Given the description of an element on the screen output the (x, y) to click on. 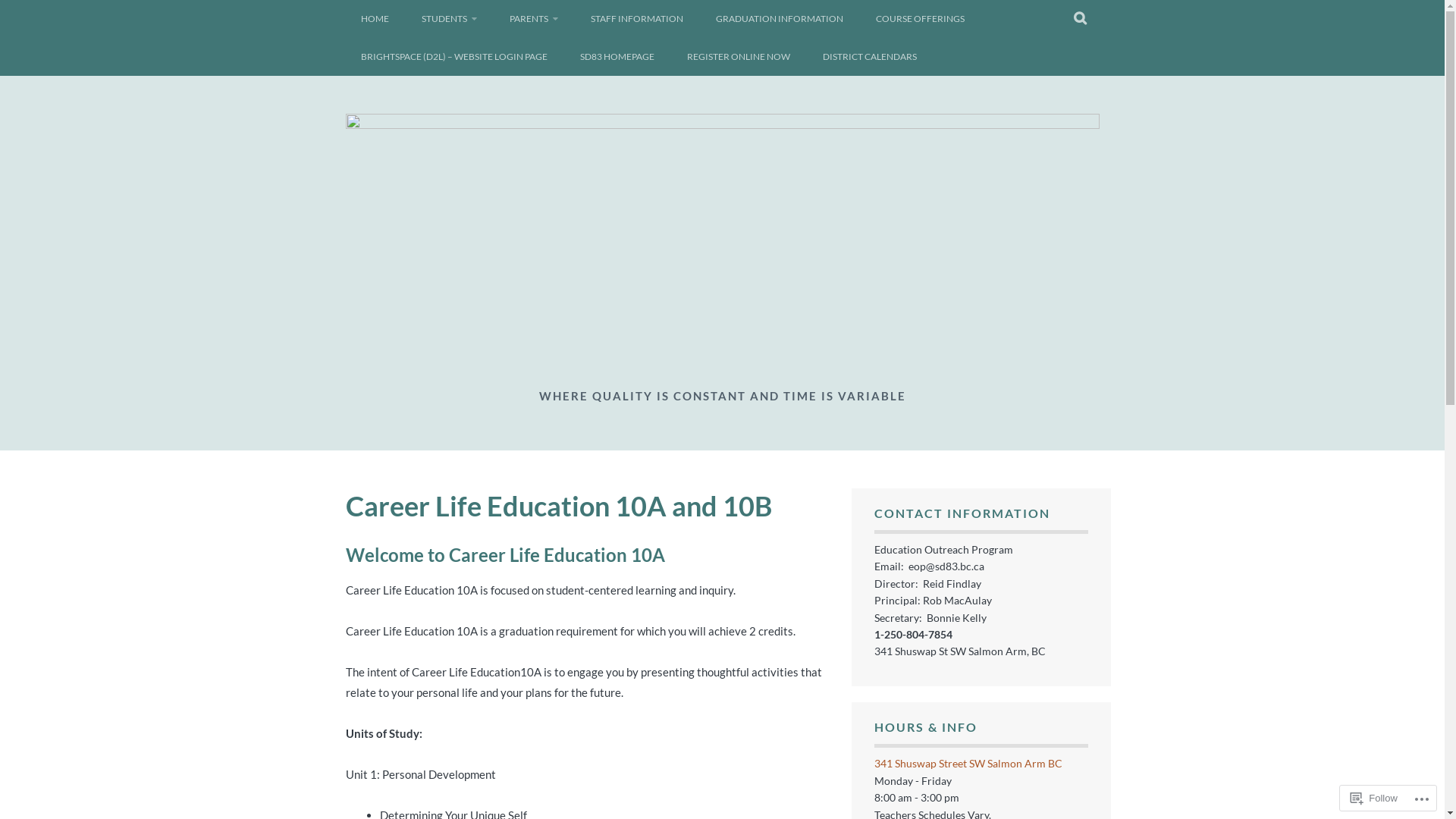
GRADUATION INFORMATION Element type: text (779, 18)
SD83 HOMEPAGE Element type: text (616, 56)
DISTRICT CALENDARS Element type: text (868, 56)
Follow Element type: text (1373, 797)
STAFF INFORMATION Element type: text (635, 18)
HOME Element type: text (374, 18)
PARENTS Element type: text (533, 18)
STUDENTS Element type: text (449, 18)
REGISTER ONLINE NOW Element type: text (738, 56)
341 Shuswap Street SW Salmon Arm BC Element type: text (968, 762)
COURSE OFFERINGS Element type: text (919, 18)
